Given the description of an element on the screen output the (x, y) to click on. 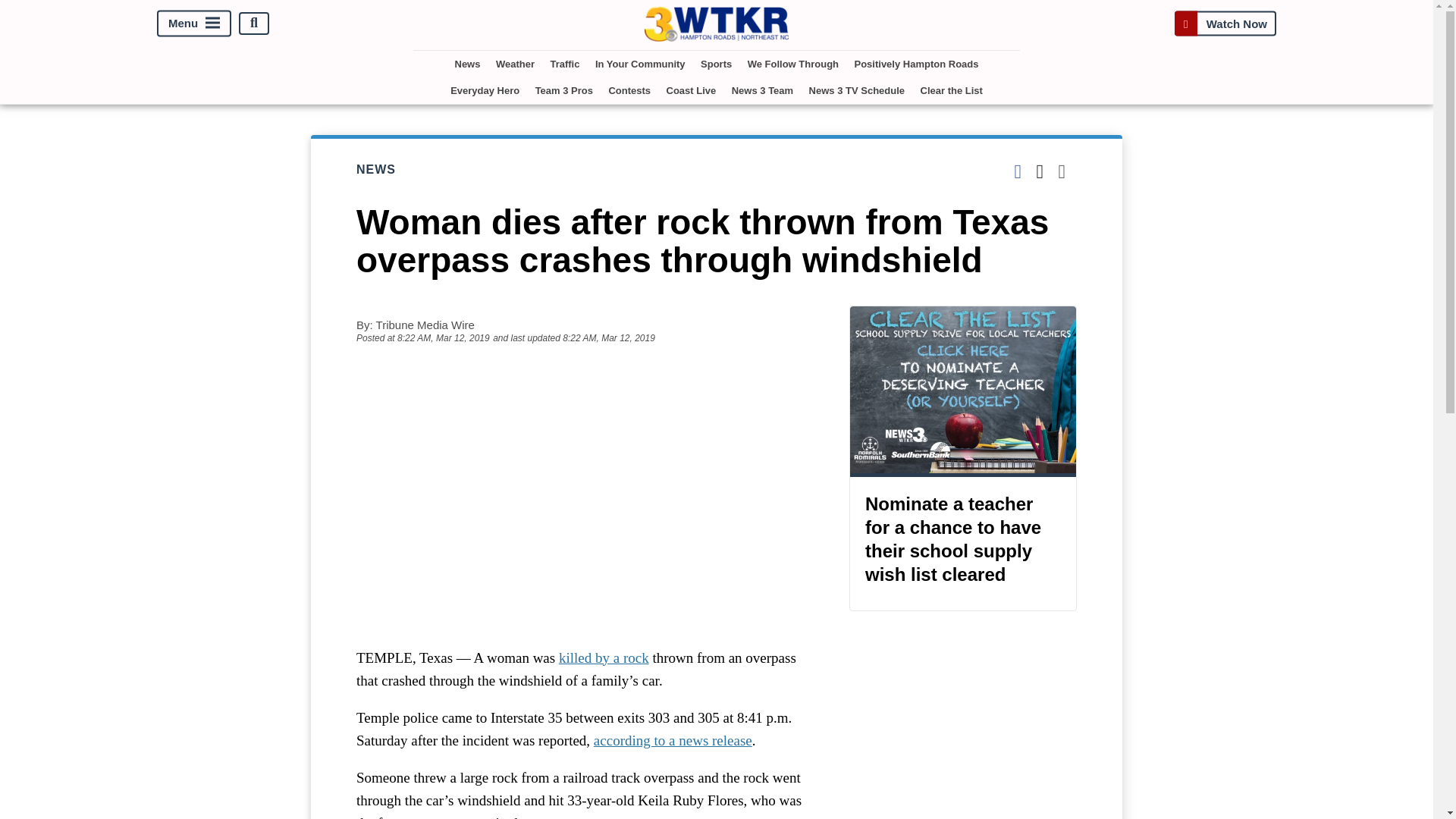
Watch Now (1224, 22)
Menu (194, 22)
